Given the description of an element on the screen output the (x, y) to click on. 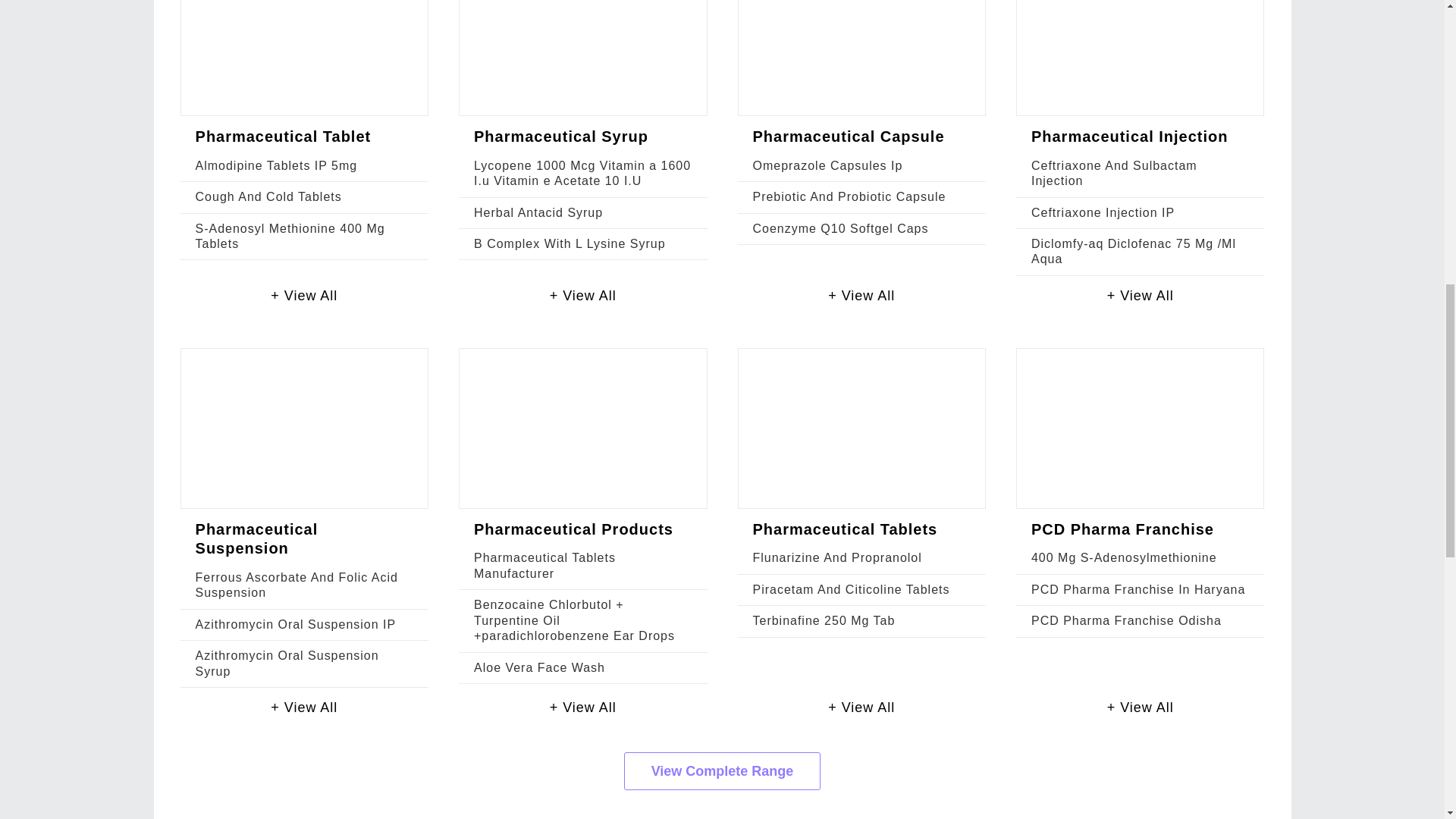
Coenzyme Q10 Softgel Caps (840, 228)
Cough And Cold Tablets (268, 196)
Omeprazole Capsules Ip (827, 164)
S-Adenosyl Methionine 400 Mg Tablets (290, 235)
Pharmaceutical Capsule (847, 135)
Herbal Antacid Syrup (538, 212)
Almodipine Tablets IP 5mg (276, 164)
Pharmaceutical Syrup (560, 135)
B Complex With L Lysine Syrup (569, 243)
Prebiotic And Probiotic Capsule (848, 196)
Pharmaceutical Tablet (283, 135)
